Given the description of an element on the screen output the (x, y) to click on. 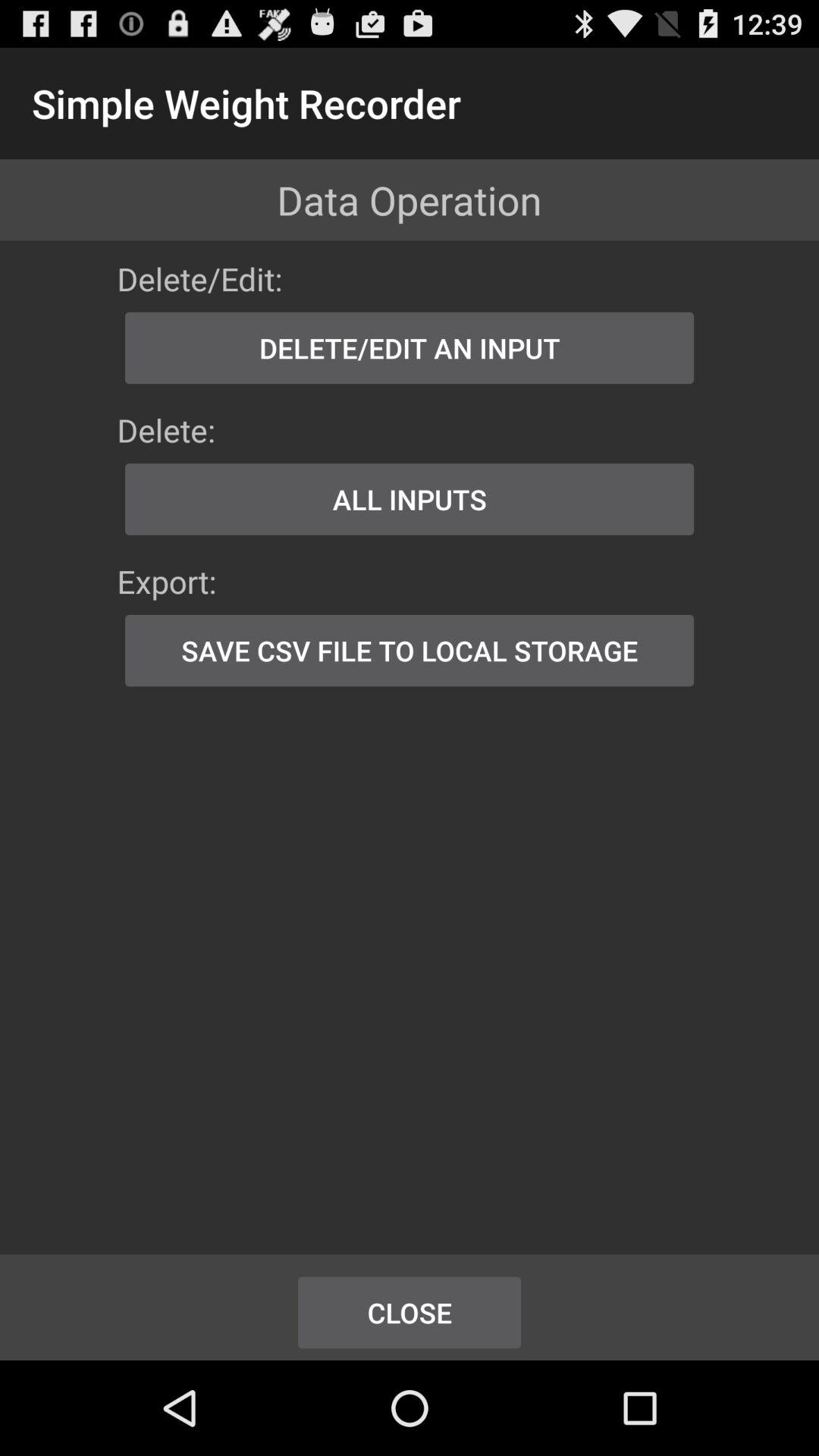
open close (409, 1312)
